Given the description of an element on the screen output the (x, y) to click on. 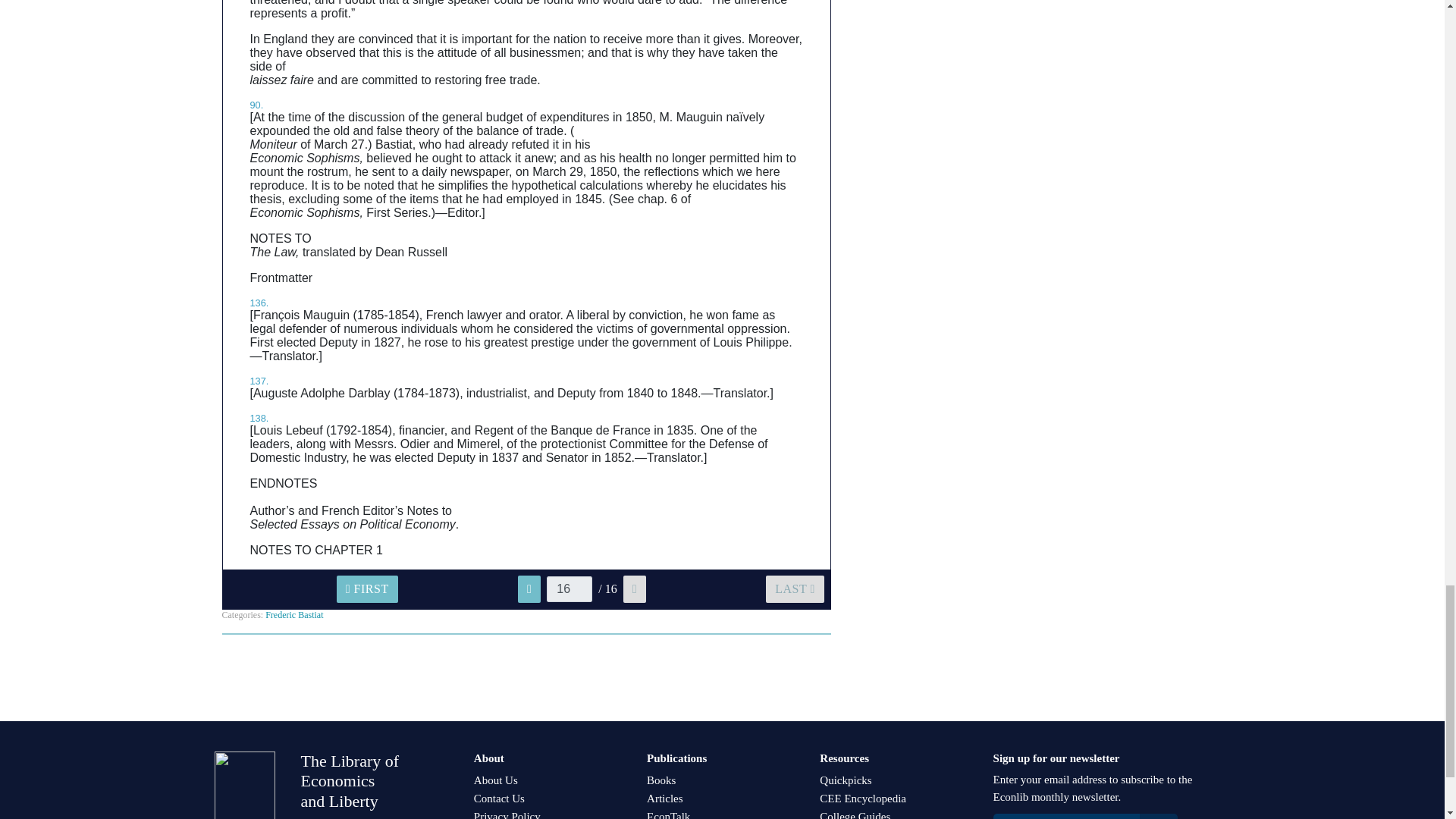
Return to text (259, 418)
16 (569, 588)
Return to text (259, 380)
Return to text (256, 104)
Return to text (259, 302)
